Given the description of an element on the screen output the (x, y) to click on. 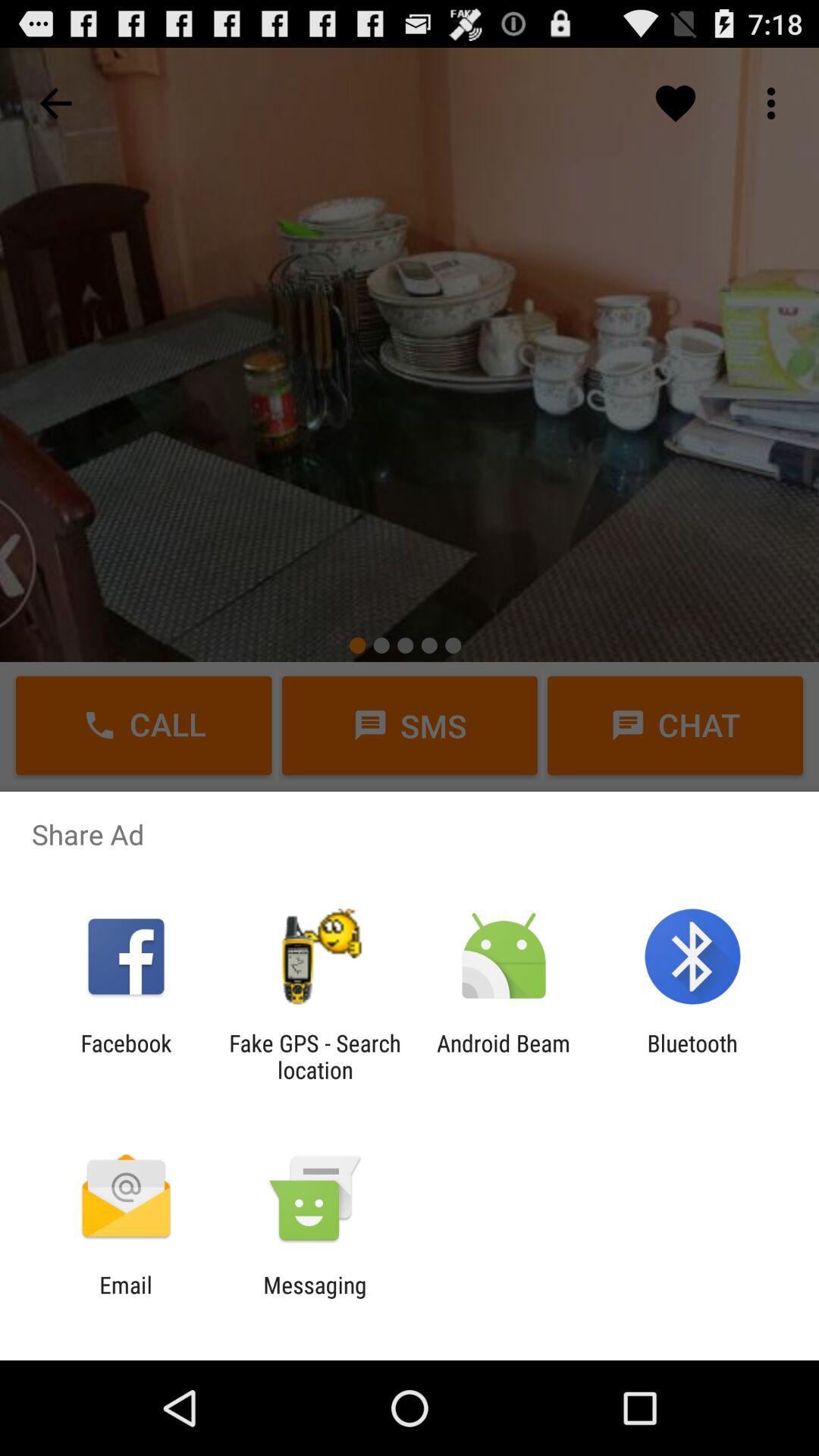
launch the facebook (125, 1056)
